Given the description of an element on the screen output the (x, y) to click on. 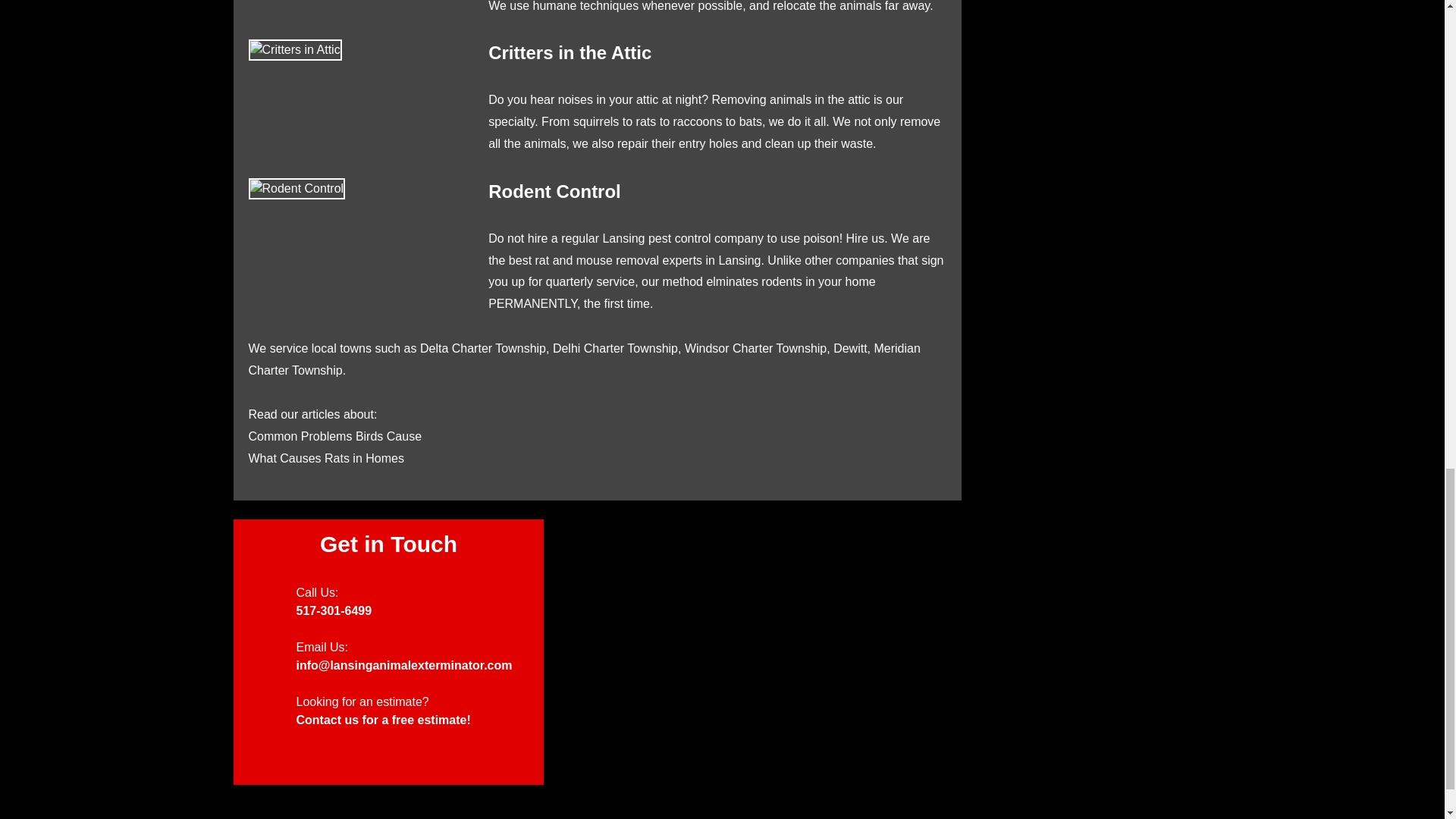
Common Problems Birds Cause (335, 436)
Meridian Charter Township (584, 359)
Windsor Charter Township (755, 348)
Dewitt (849, 348)
Delta Charter Township (483, 348)
What Causes Rats in Homes (326, 458)
Delhi Charter Township (615, 348)
